Given the description of an element on the screen output the (x, y) to click on. 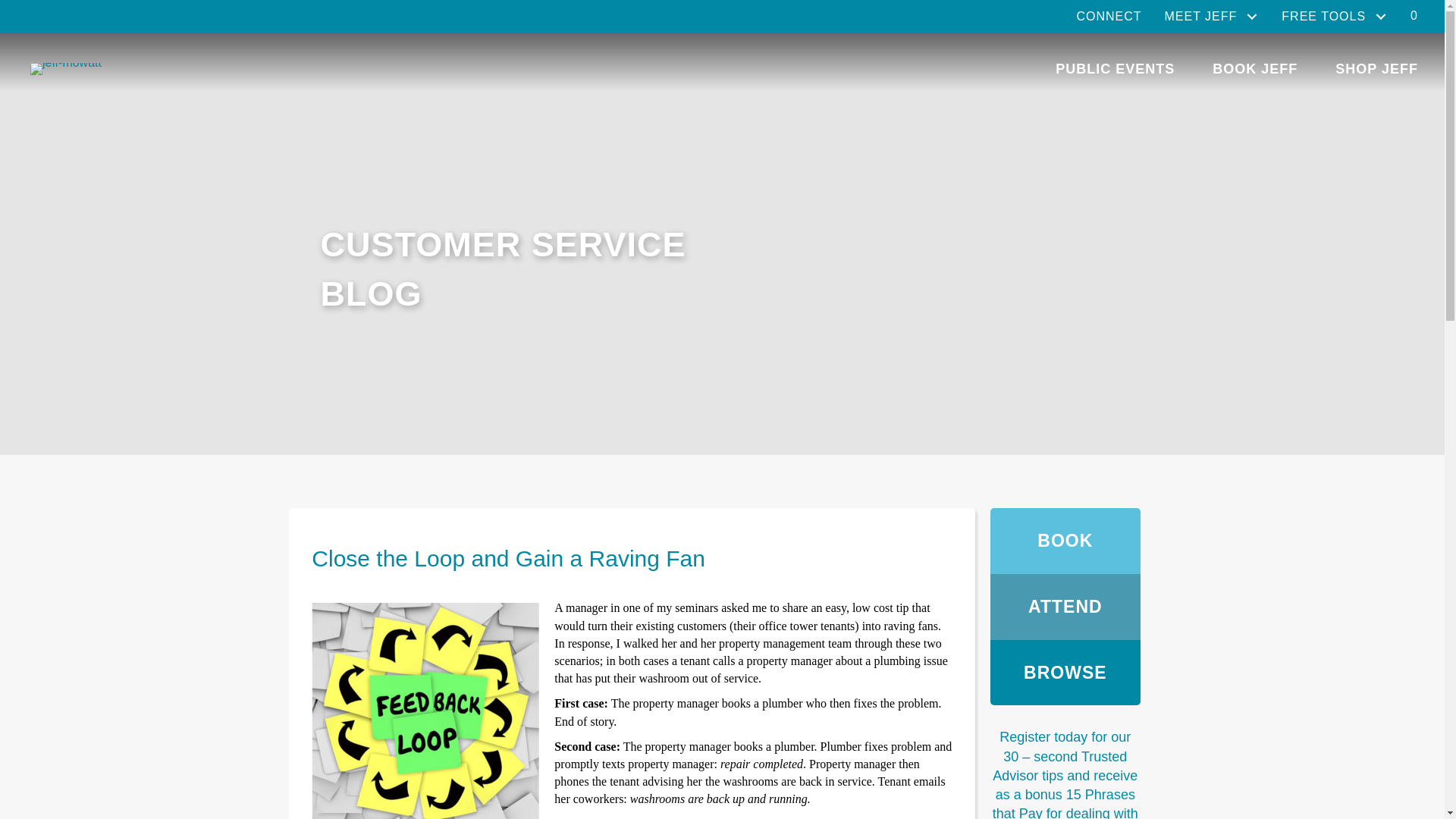
CONNECT (1108, 16)
BOOK (1065, 540)
SHOP JEFF (1376, 68)
PUBLIC EVENTS (1114, 68)
FREE TOOLS (1334, 16)
0 (1414, 16)
BROWSE (1065, 672)
MEET JEFF (1211, 16)
jeff-mowatt (65, 69)
BOOK JEFF (1254, 68)
